Given the description of an element on the screen output the (x, y) to click on. 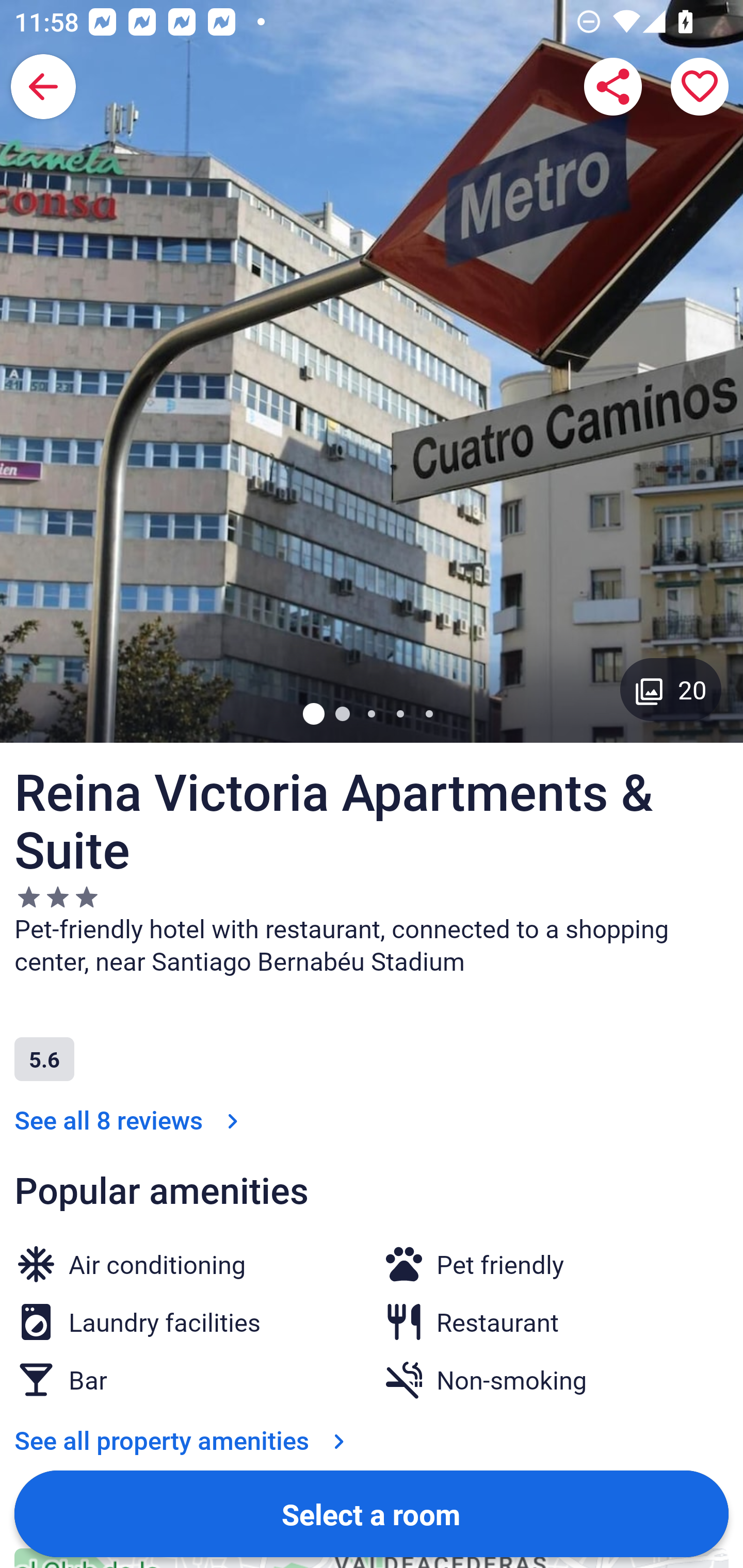
Back (43, 86)
Save property to a trip (699, 86)
Share Reina Victoria Apartments & Suite (612, 87)
Gallery button with 20 images (670, 689)
See all 8 reviews See all 8 reviews Link (130, 1120)
See all property amenities (183, 1440)
Select a room Button Select a room (371, 1513)
